Given the description of an element on the screen output the (x, y) to click on. 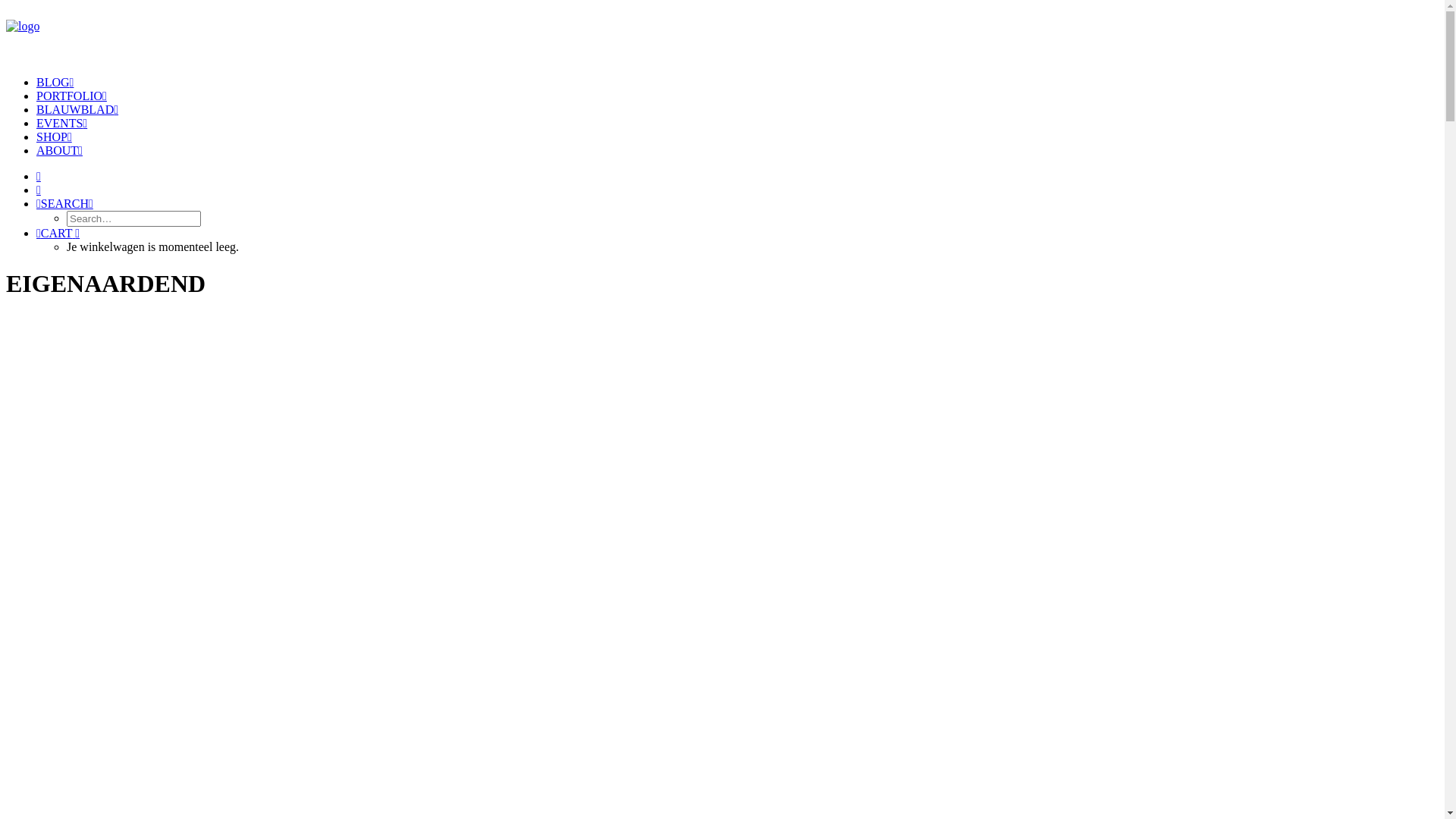
EVENTS Element type: text (61, 122)
BLAUWBLAD Element type: text (77, 109)
SEARCH Element type: text (64, 203)
SHOP Element type: text (54, 136)
ABOUT Element type: text (59, 150)
PORTFOLIO Element type: text (71, 95)
BLOG Element type: text (54, 81)
CART Element type: text (57, 232)
